Given the description of an element on the screen output the (x, y) to click on. 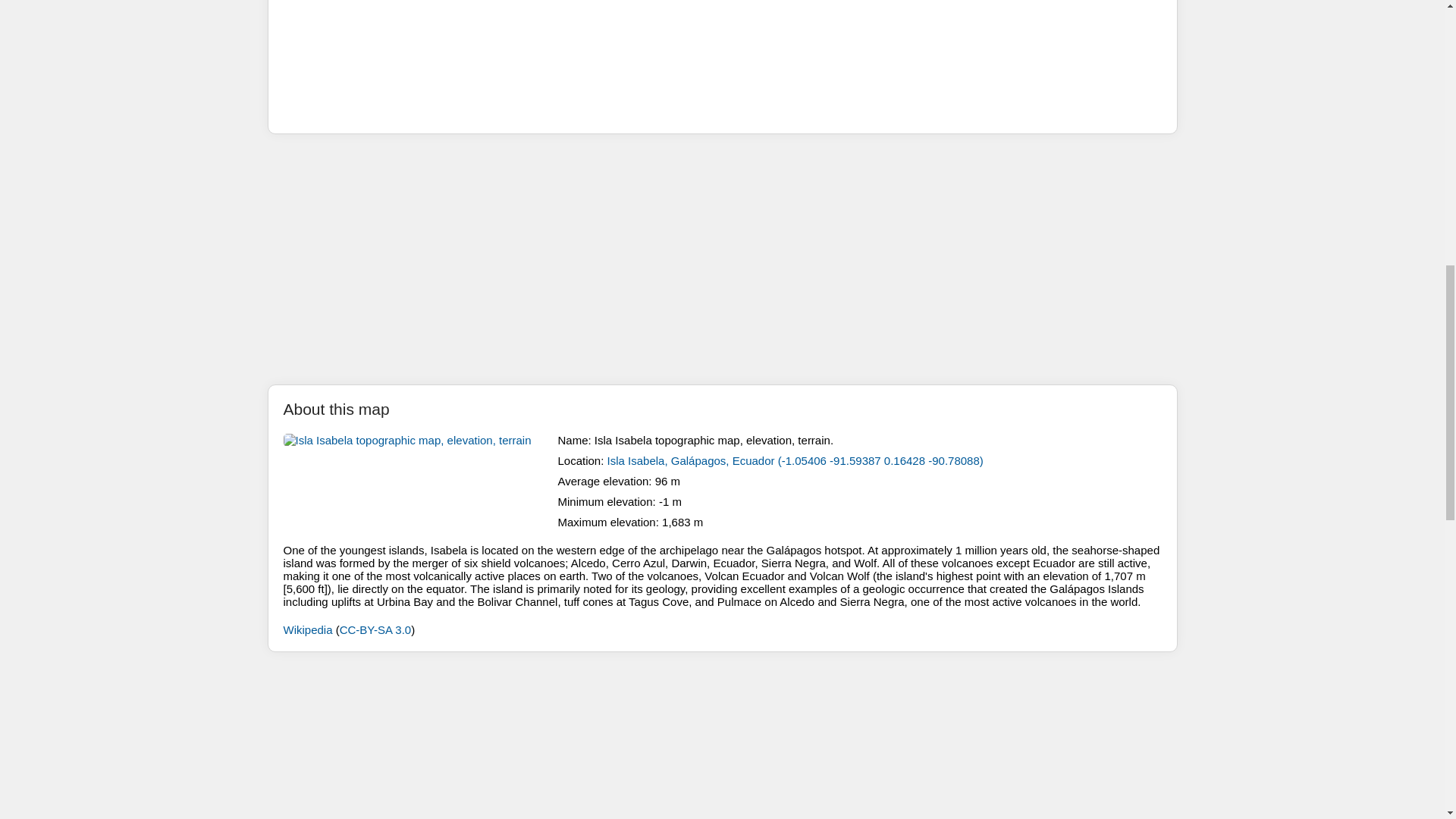
CC-BY-SA 3.0 (375, 629)
Wikipedia (308, 629)
Isla Isabela topographic map, elevation, terrain (416, 480)
